Given the description of an element on the screen output the (x, y) to click on. 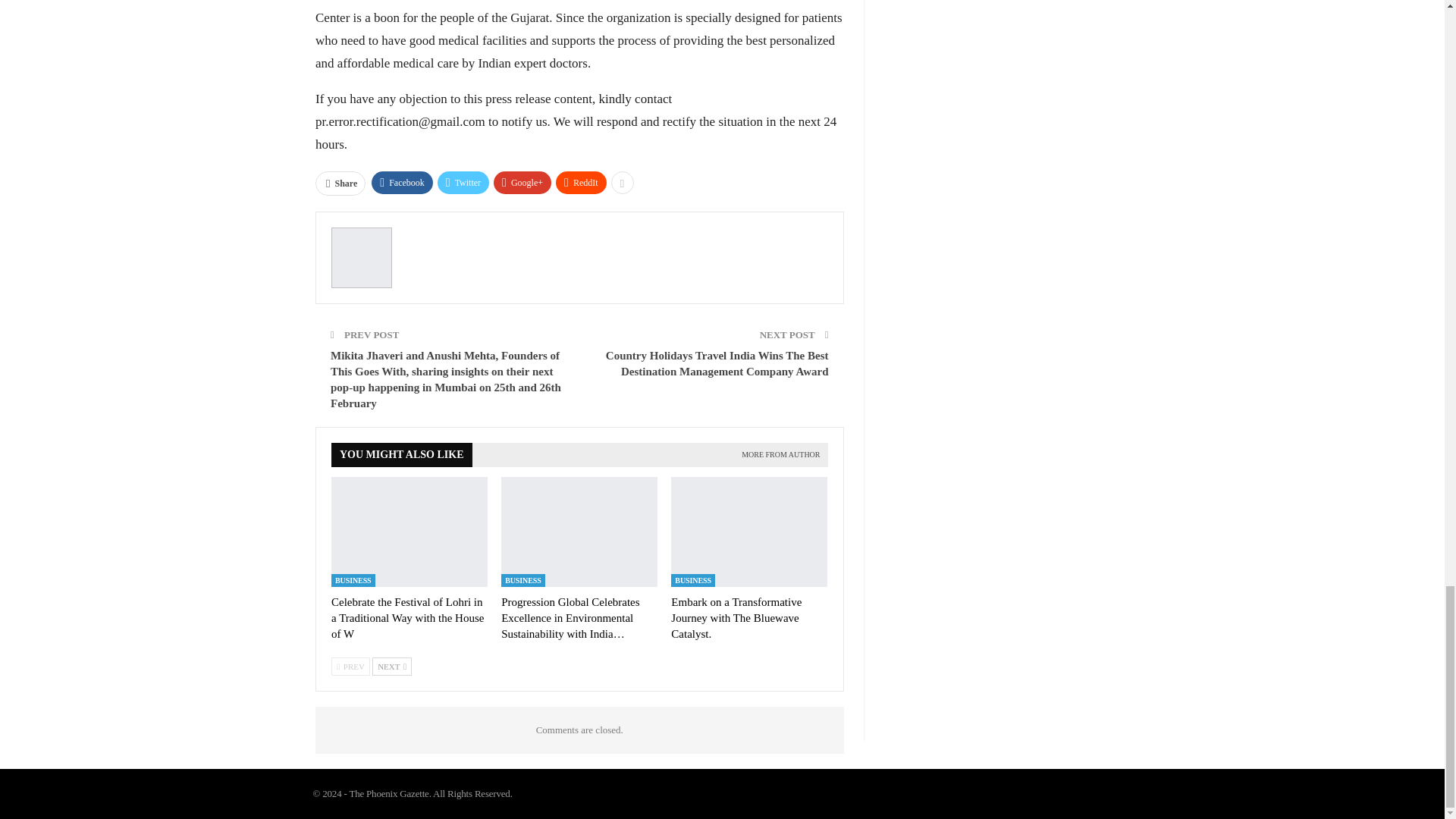
ReddIt (581, 182)
Twitter (463, 182)
Next (392, 666)
Facebook (401, 182)
